Given the description of an element on the screen output the (x, y) to click on. 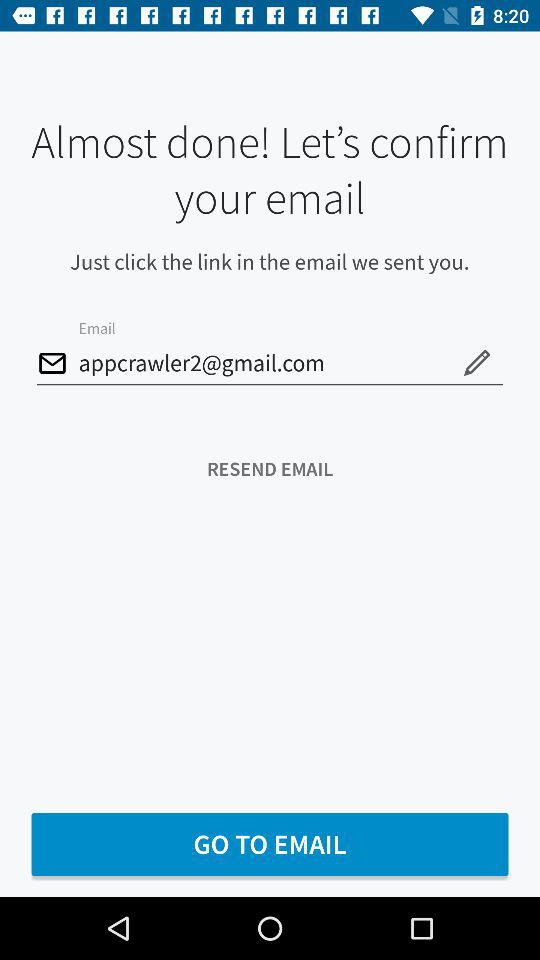
choose icon on the right (476, 362)
